Given the description of an element on the screen output the (x, y) to click on. 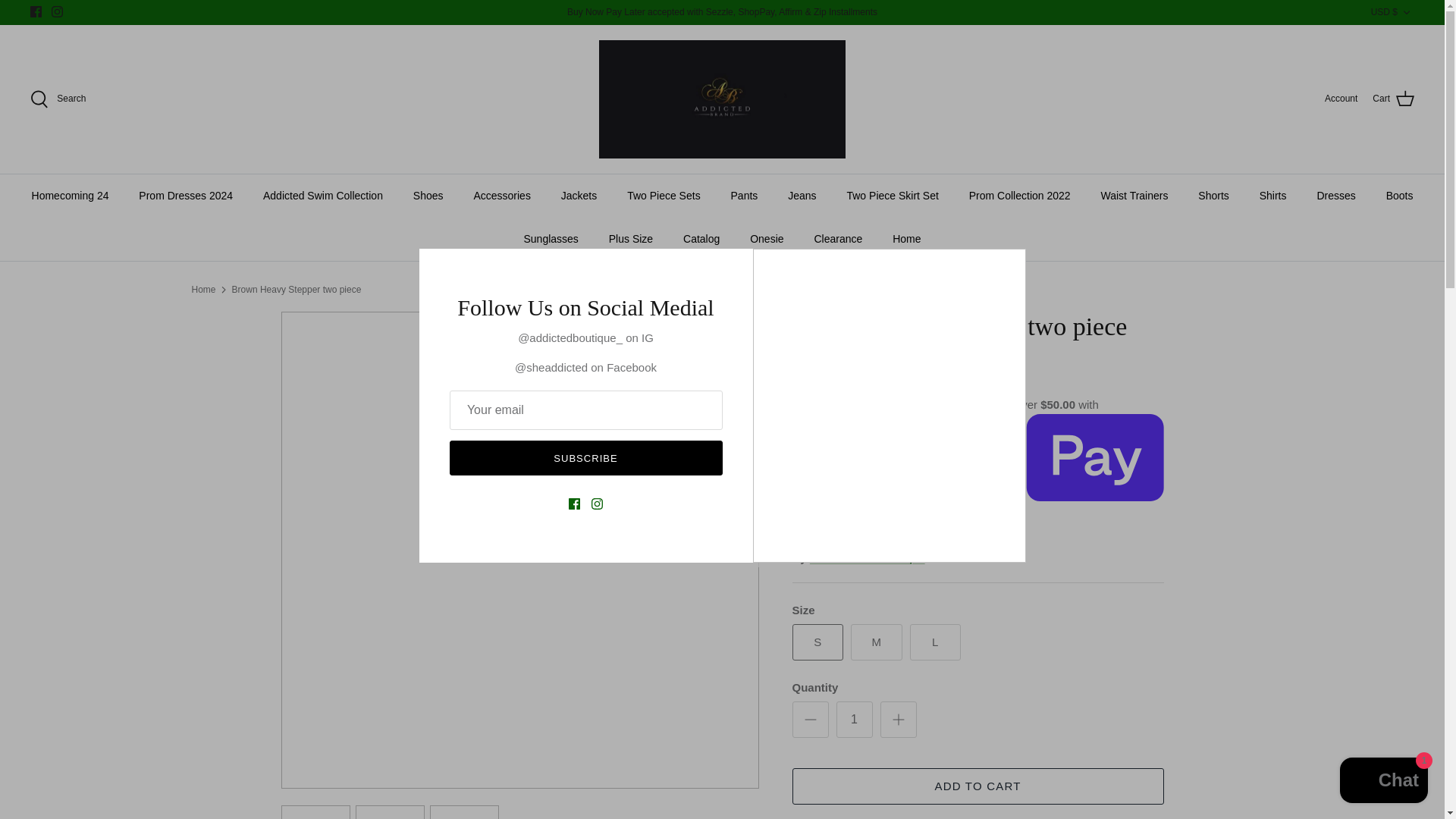
Facebook (36, 11)
Minus (809, 719)
Instagram (56, 11)
Instagram (56, 11)
Shopify online store chat (1383, 781)
Down (1406, 12)
RIGHT (741, 550)
Plus (897, 719)
Facebook (36, 11)
She Addicted Boutique  (721, 99)
1 (853, 719)
